Given the description of an element on the screen output the (x, y) to click on. 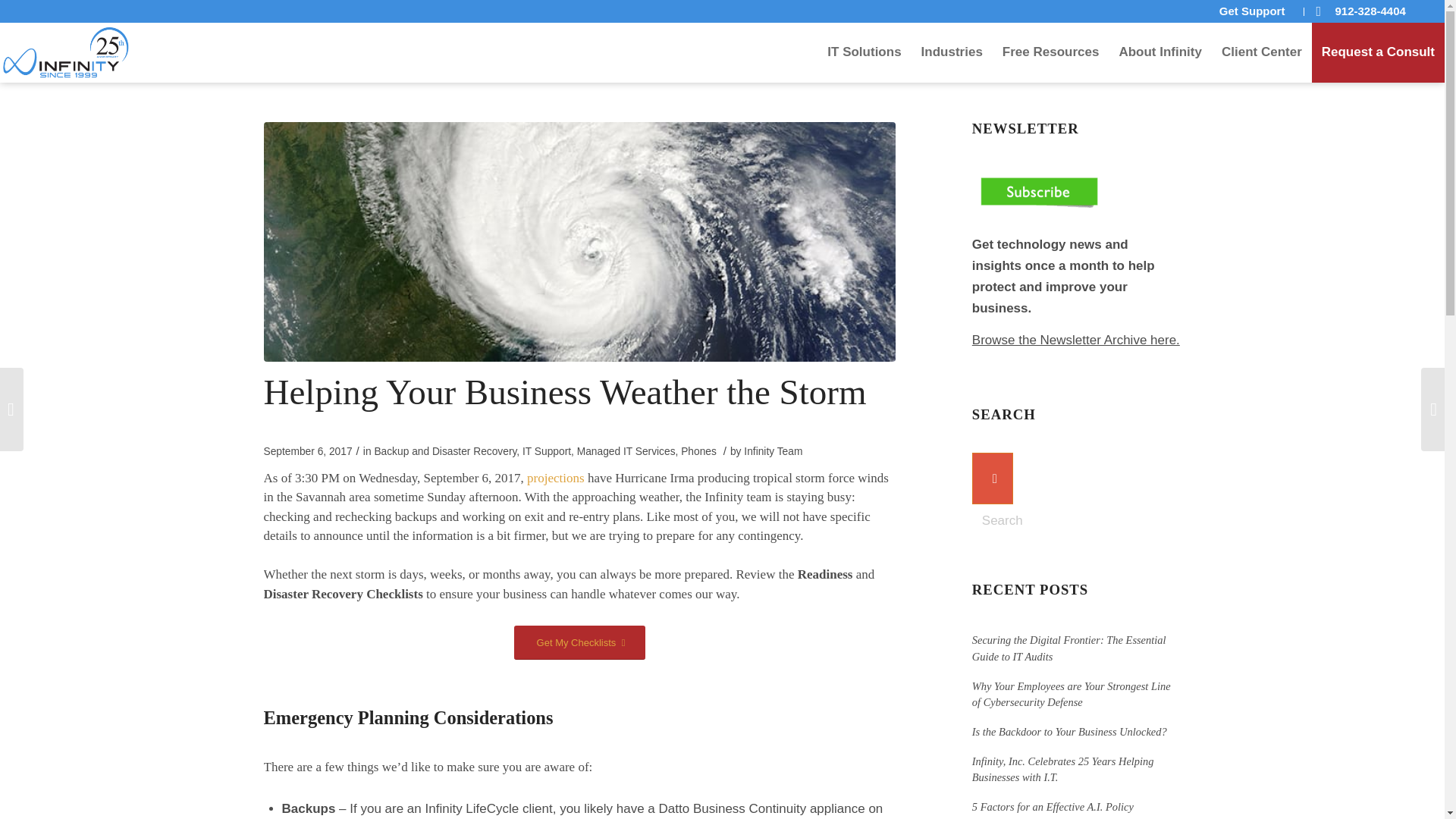
Industries (951, 52)
Infinity anniversary logo 340 x 156 (66, 52)
IT Solutions (863, 52)
Get Support (1251, 11)
Posts by Infinity Team (773, 451)
Client Center (1261, 52)
Free Resources (1050, 52)
912-328-4404 (1369, 11)
About Infinity (1159, 52)
